Given the description of an element on the screen output the (x, y) to click on. 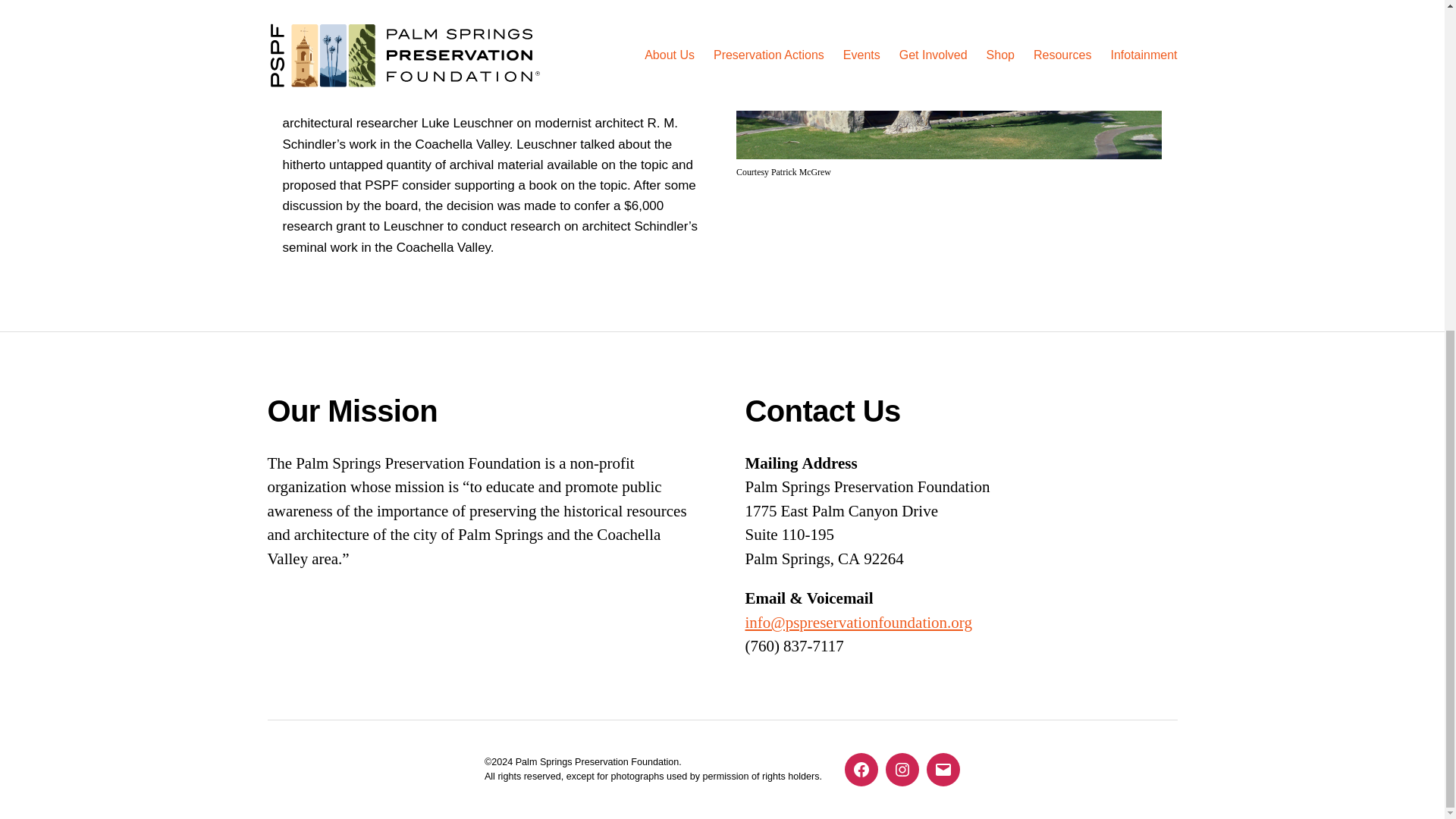
Facebook (860, 769)
Email (942, 769)
Maryon Toole Residence Patrick McGrew (948, 79)
Instagram (901, 769)
click here (412, 69)
